Given the description of an element on the screen output the (x, y) to click on. 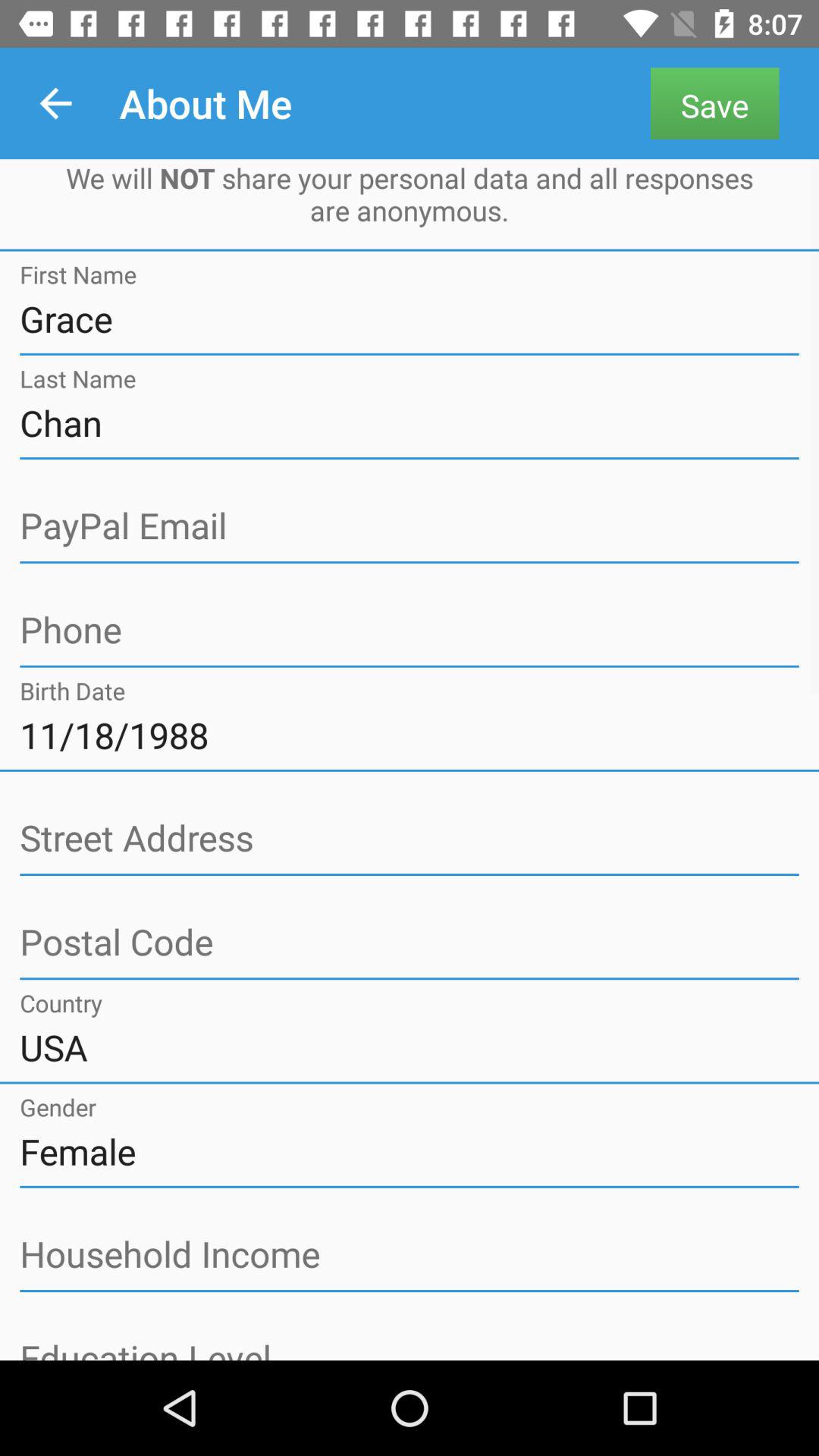
digit the education level (409, 1347)
